Given the description of an element on the screen output the (x, y) to click on. 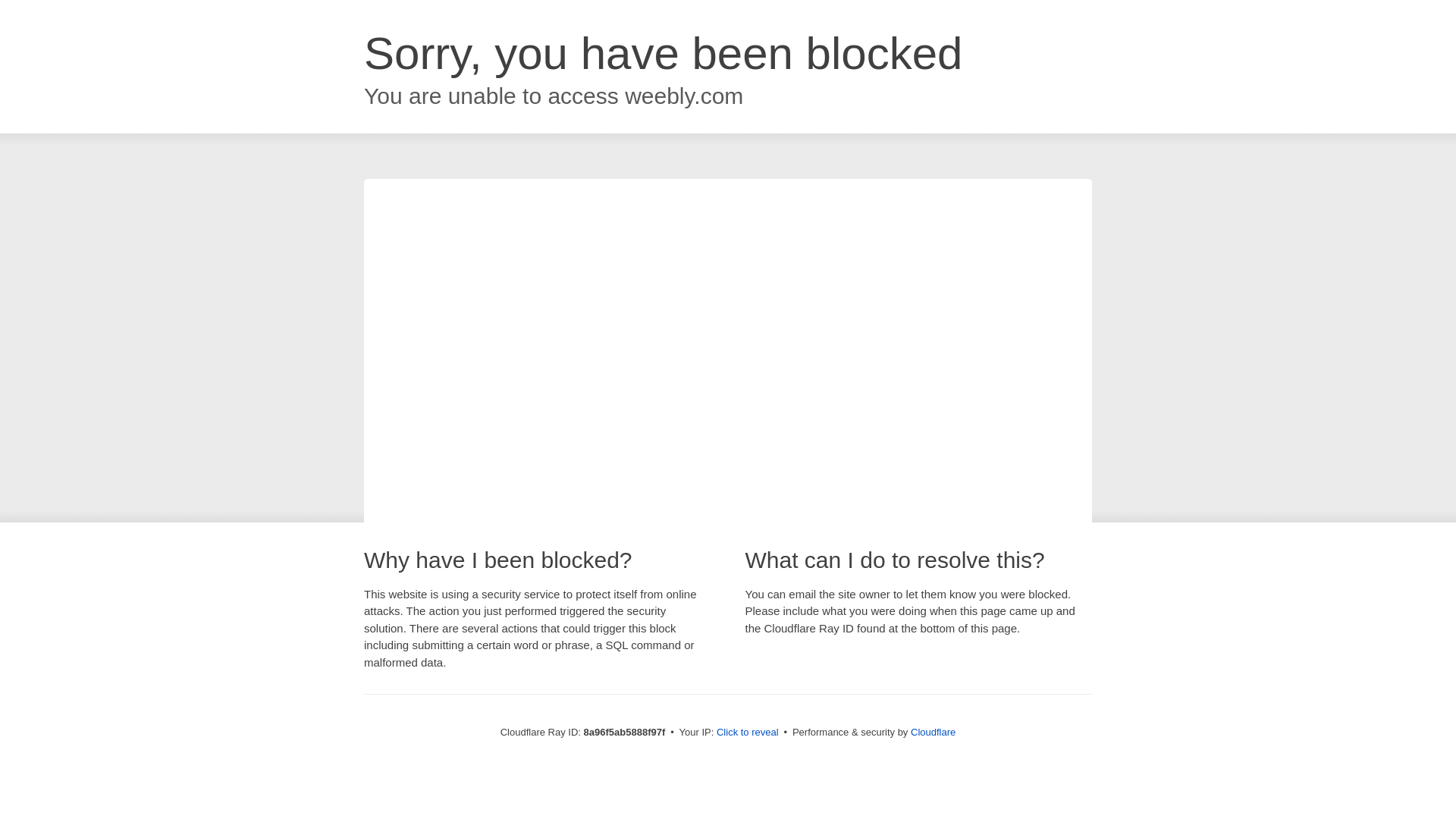
Cloudflare (933, 731)
Click to reveal (747, 732)
